Given the description of an element on the screen output the (x, y) to click on. 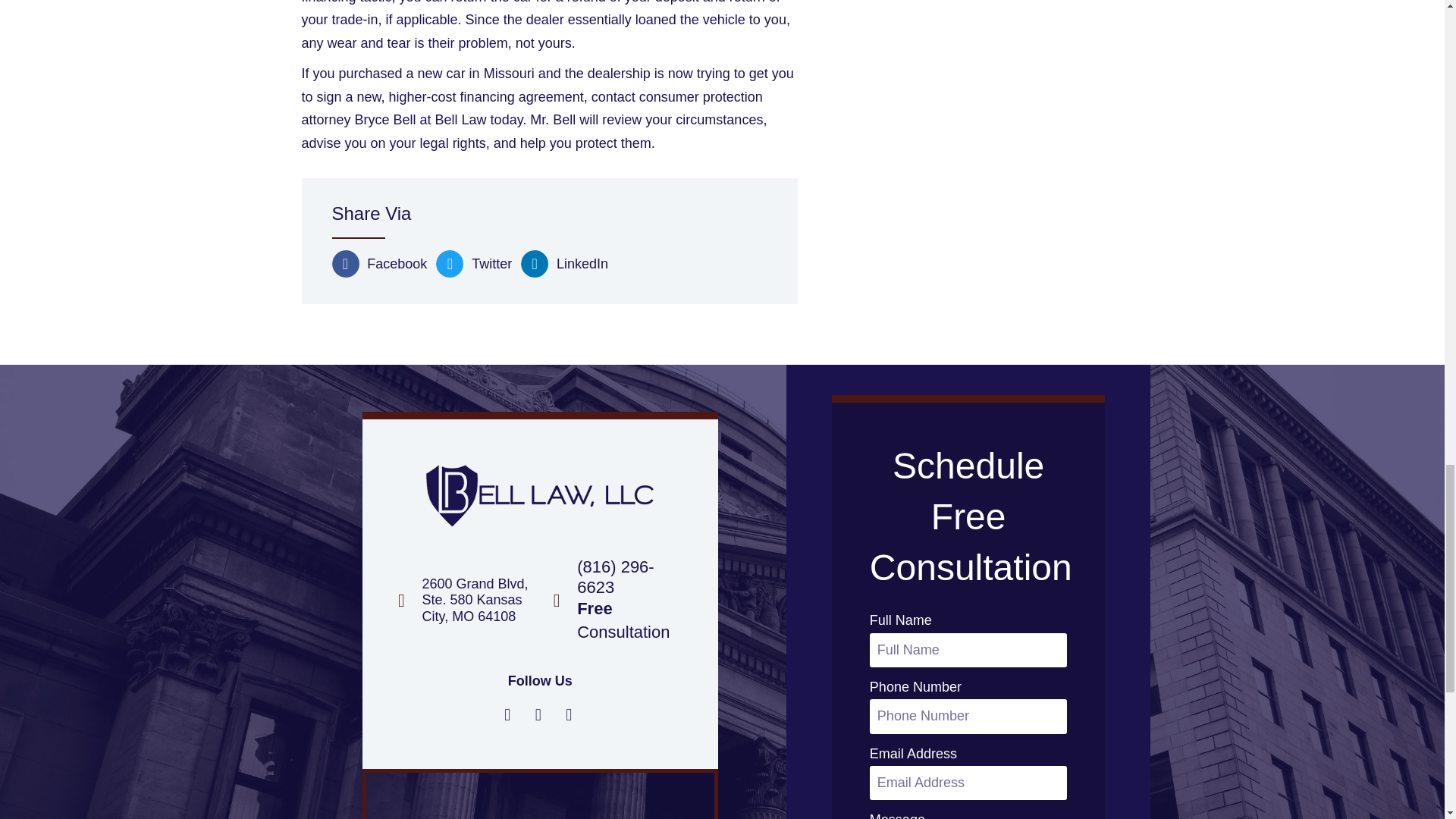
2600 Grand Blvd, Ste. 580 Kansas City, MO 64108 (539, 796)
